Given the description of an element on the screen output the (x, y) to click on. 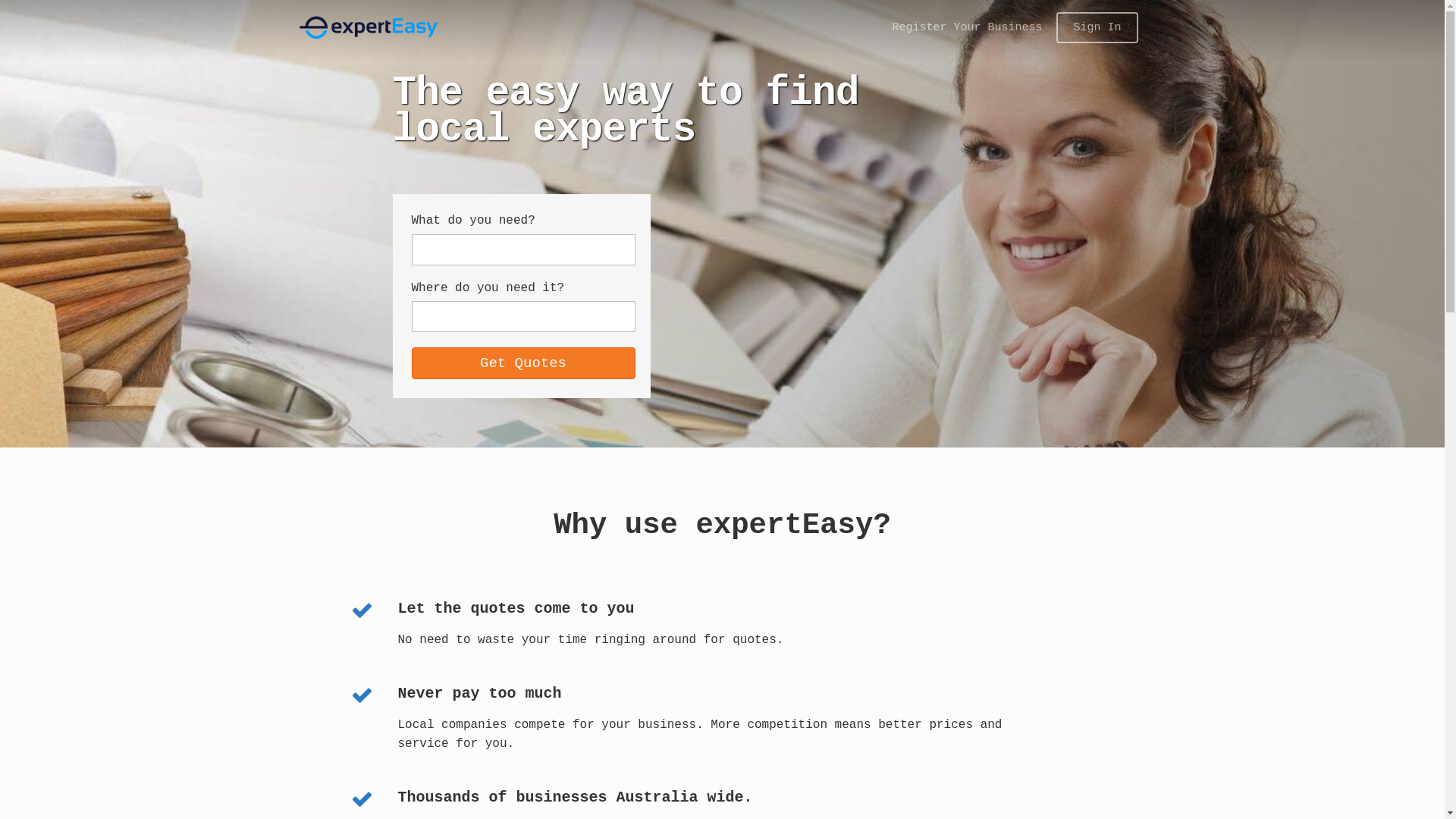
Register Your Business Element type: text (966, 27)
Sign In Element type: text (1096, 27)
Get Quotes Element type: text (522, 363)
